Given the description of an element on the screen output the (x, y) to click on. 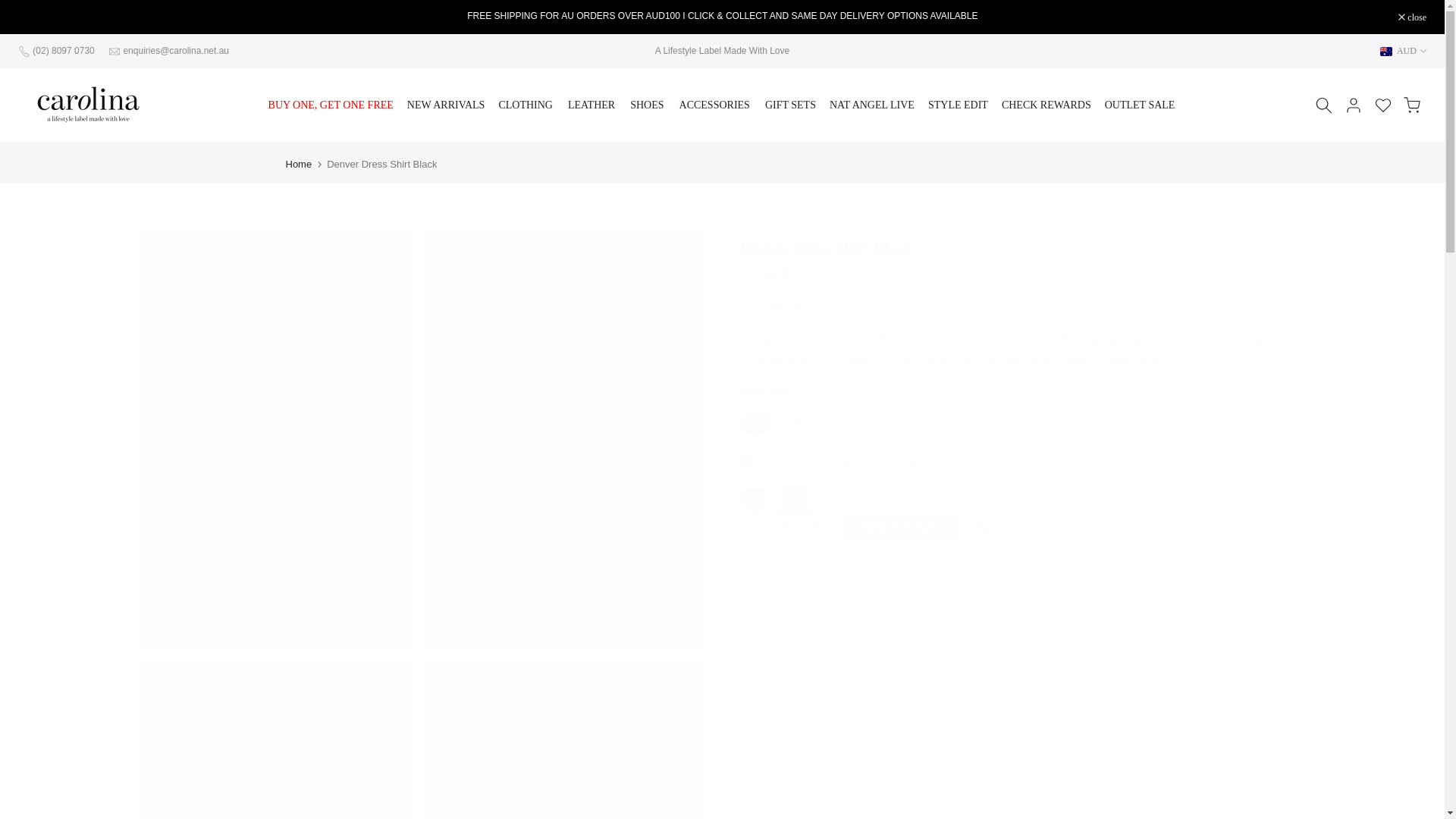
Skip to content (10, 7)
AUD (1403, 50)
1 (786, 526)
close (1411, 16)
